Given the description of an element on the screen output the (x, y) to click on. 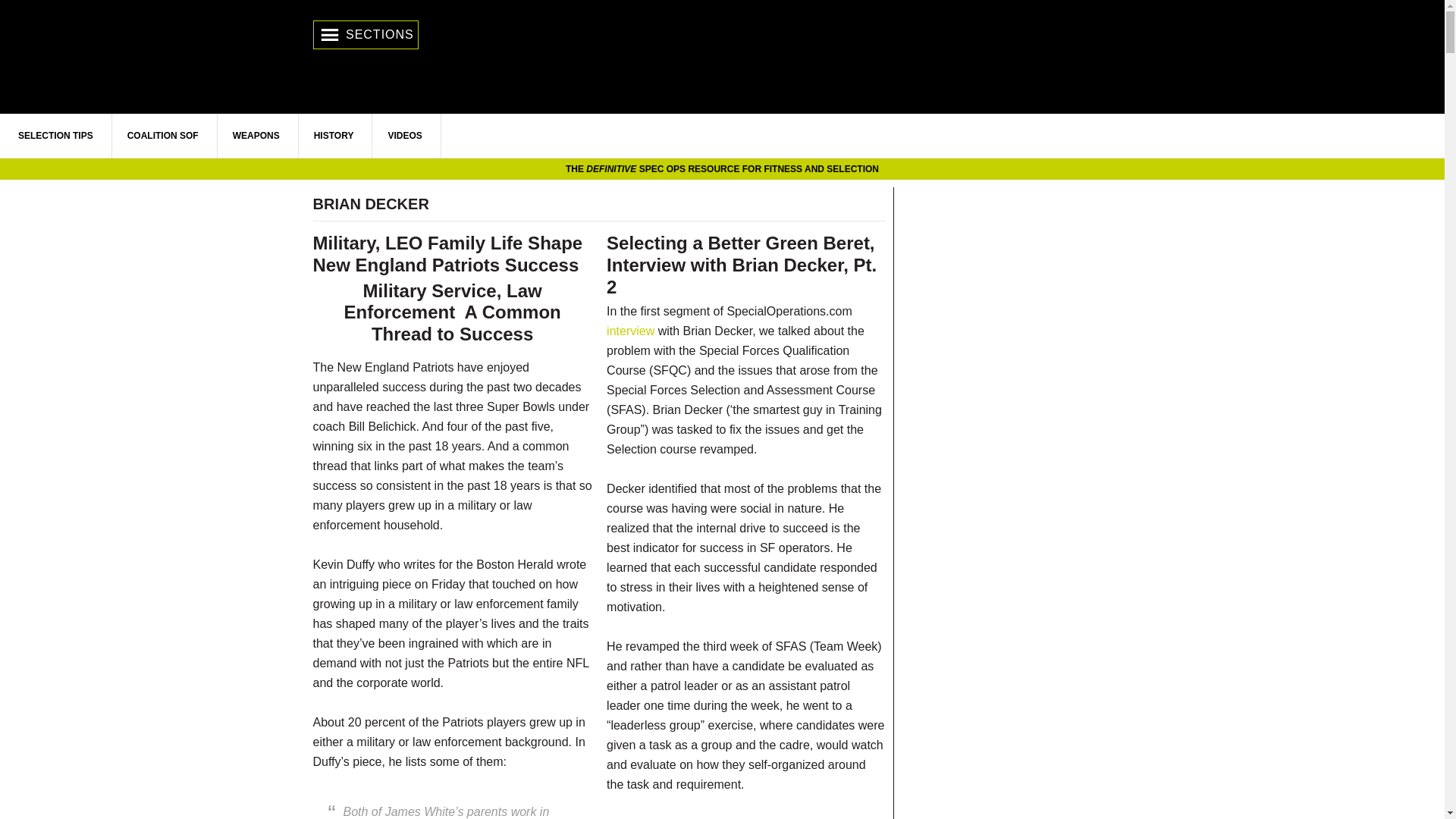
SECTIONS (365, 34)
WEAPONS (256, 135)
Military, LEO Family Life Shape New England Patriots Success (447, 253)
COALITION SOF (162, 135)
SELECTION TIPS (56, 135)
VIDEOS (405, 135)
interview (630, 330)
HISTORY (333, 135)
SPECIALOPERATIONS.COM (722, 77)
